Given the description of an element on the screen output the (x, y) to click on. 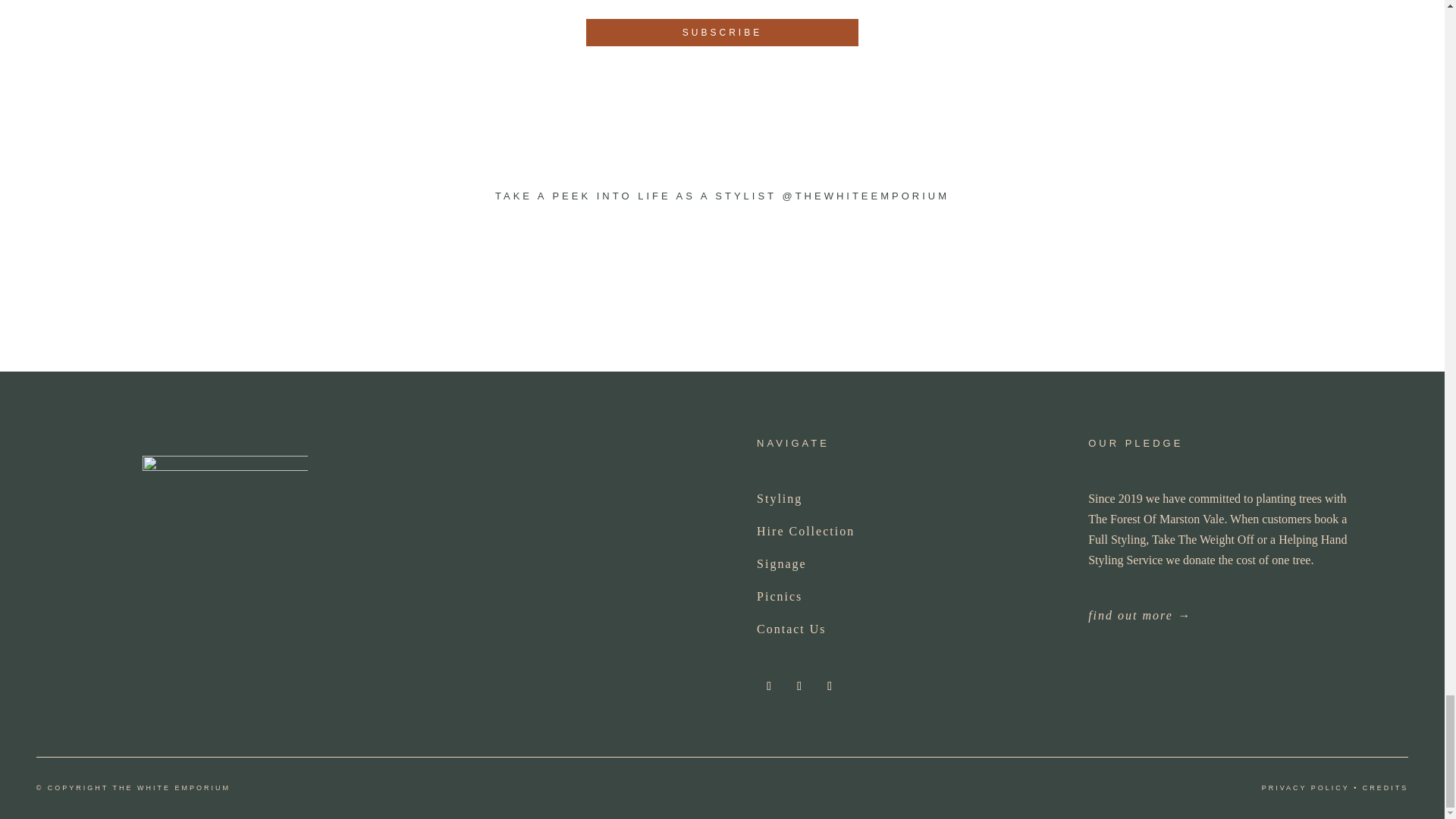
Follow on Pinterest (828, 686)
Follow on Facebook (798, 686)
Follow on Instagram (768, 686)
